Given the description of an element on the screen output the (x, y) to click on. 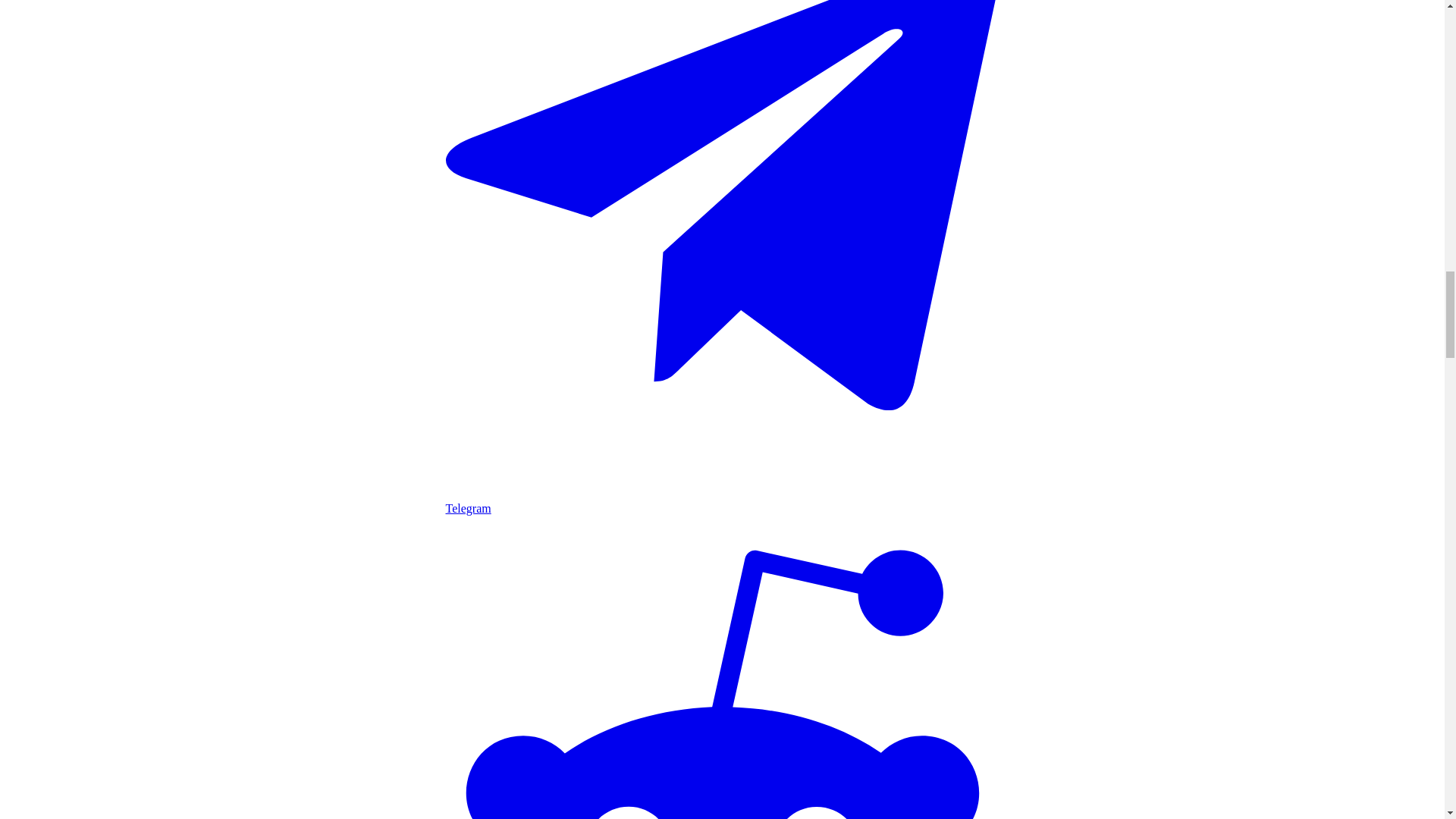
Telegram (721, 501)
